Given the description of an element on the screen output the (x, y) to click on. 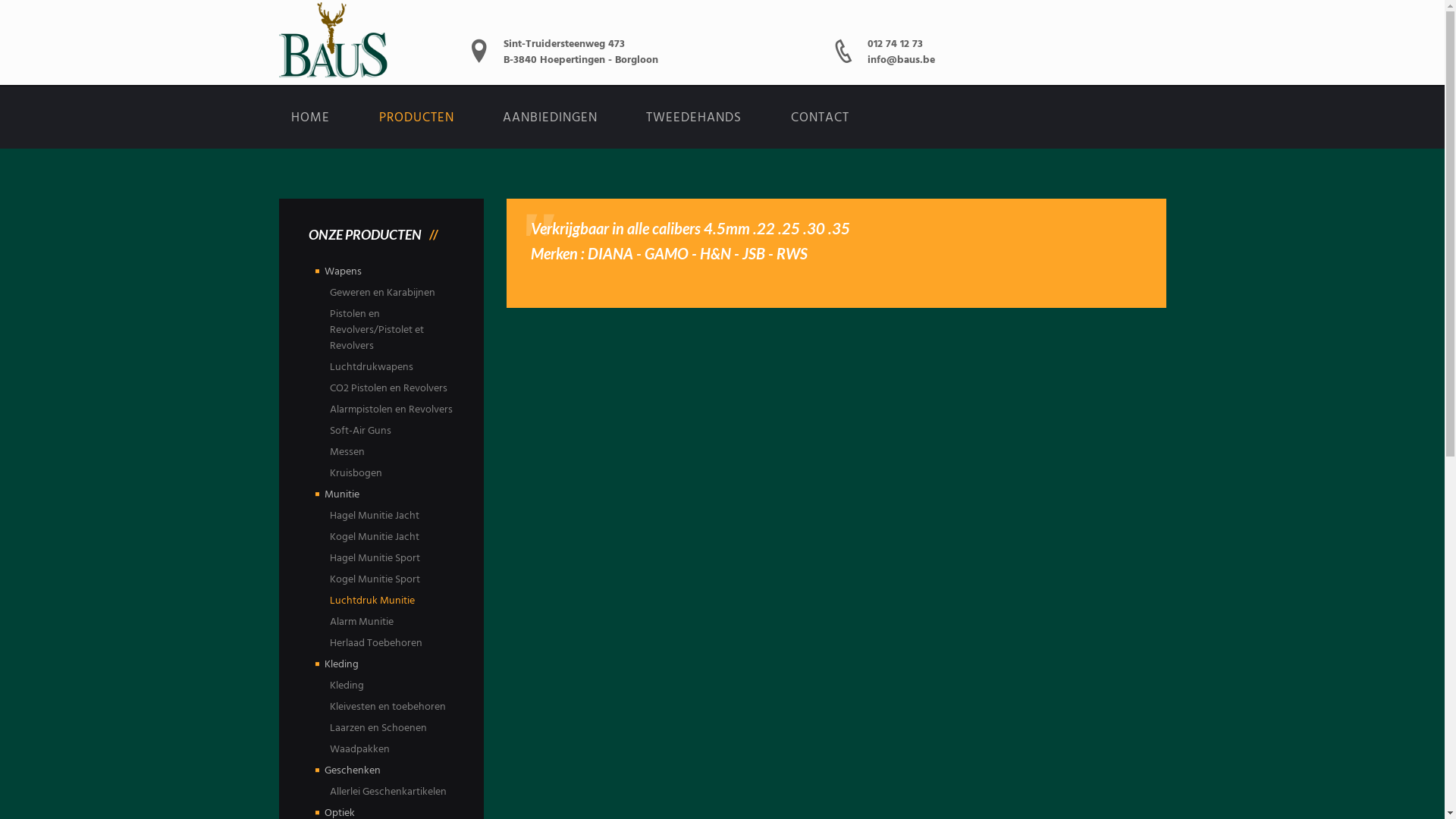
Luchtdruk Munitie Element type: text (371, 600)
Munitie Element type: text (341, 494)
Geweren en Karabijnen Element type: text (382, 292)
HOME Element type: text (311, 117)
Hagel Munitie Jacht Element type: text (374, 515)
Pistolen en Revolvers/Pistolet et Revolvers Element type: text (376, 329)
AANBIEDINGEN Element type: text (549, 117)
Kogel Munitie Sport Element type: text (374, 579)
Kleivesten en toebehoren Element type: text (387, 706)
Laarzen en Schoenen Element type: text (377, 728)
TWEEDEHANDS Element type: text (694, 117)
Luchtdrukwapens Element type: text (371, 367)
Kruisbogen Element type: text (355, 473)
Geschenken Element type: text (352, 770)
CO2 Pistolen en Revolvers Element type: text (388, 388)
Wapens Element type: text (342, 271)
Waadpakken Element type: text (359, 749)
Messen Element type: text (346, 452)
Hagel Munitie Sport Element type: text (374, 558)
Kogel Munitie Jacht Element type: text (374, 537)
Allerlei Geschenkartikelen Element type: text (387, 791)
Alarmpistolen en Revolvers Element type: text (390, 409)
Herlaad Toebehoren Element type: text (375, 643)
Soft-Air Guns Element type: text (360, 430)
Kleding Element type: text (346, 685)
Kleding Element type: text (341, 664)
PRODUCTEN Element type: text (416, 117)
Alarm Munitie Element type: text (361, 621)
CONTACT Element type: text (820, 117)
